Given the description of an element on the screen output the (x, y) to click on. 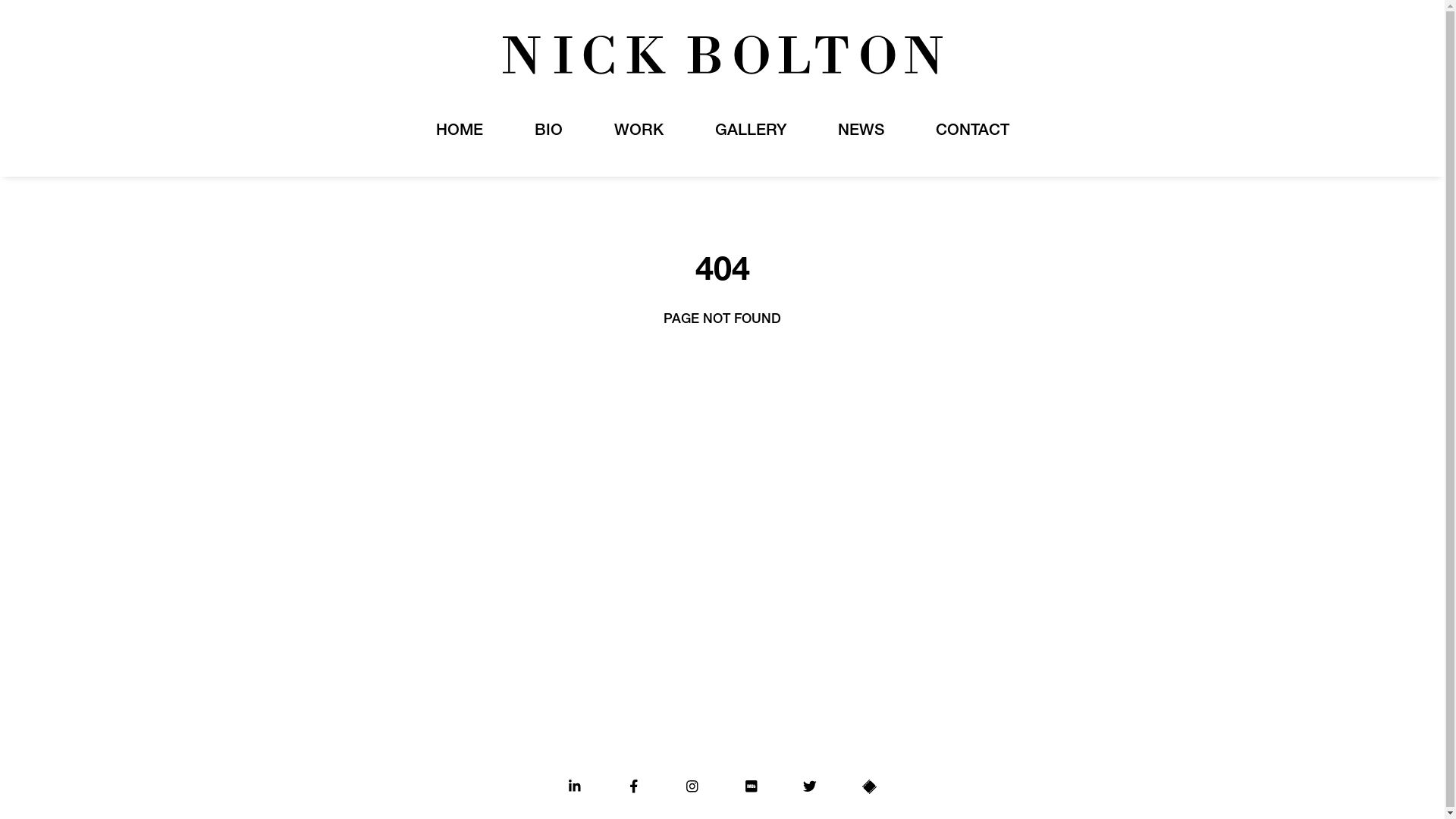
WORK Element type: text (638, 131)
BIO Element type: text (547, 131)
CONTACT Element type: text (972, 131)
GALLERY Element type: text (749, 131)
NEWS Element type: text (860, 131)
HOME Element type: text (458, 131)
